Given the description of an element on the screen output the (x, y) to click on. 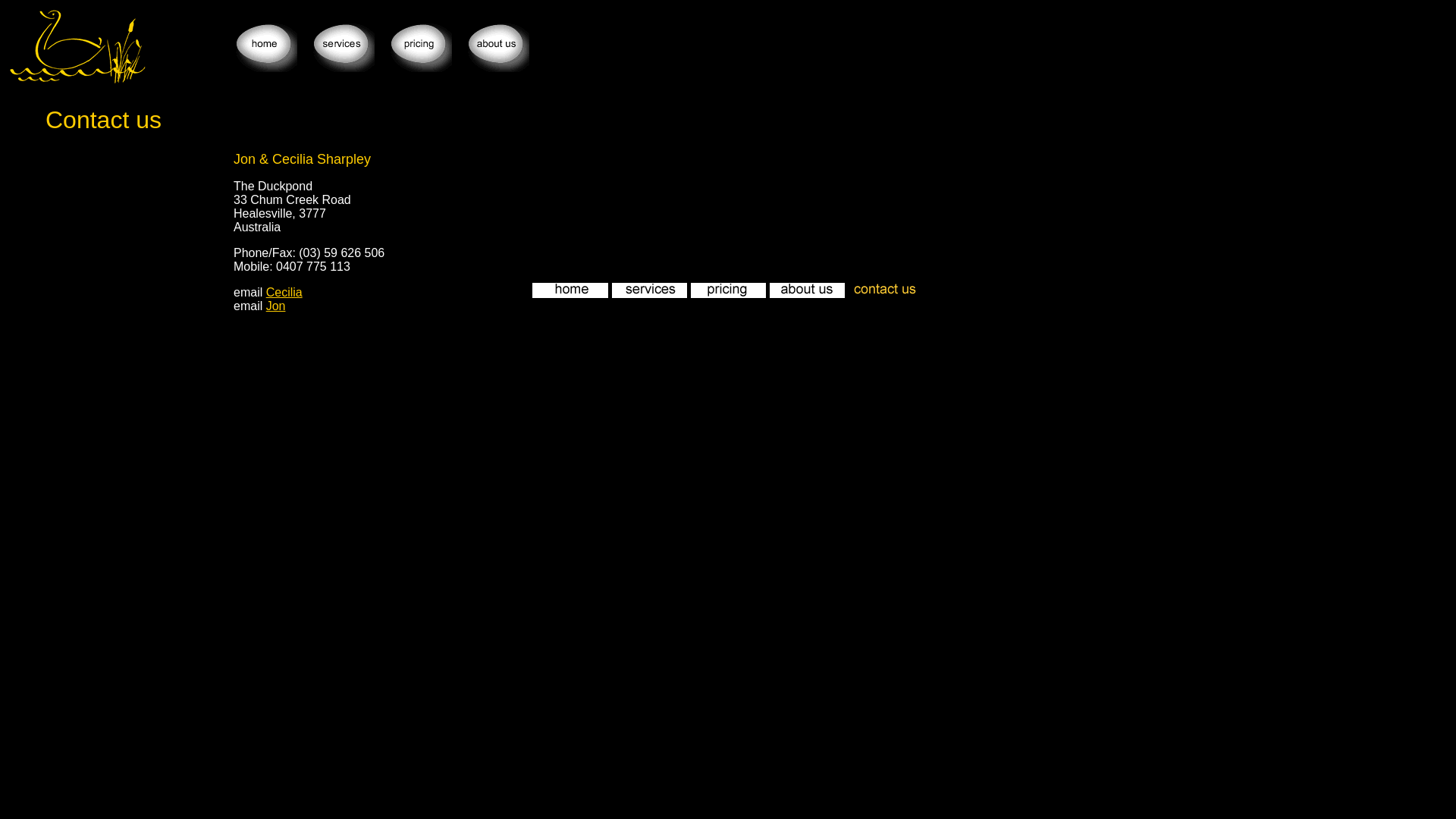
Cecilia Element type: text (284, 291)
Jon Element type: text (275, 305)
